Given the description of an element on the screen output the (x, y) to click on. 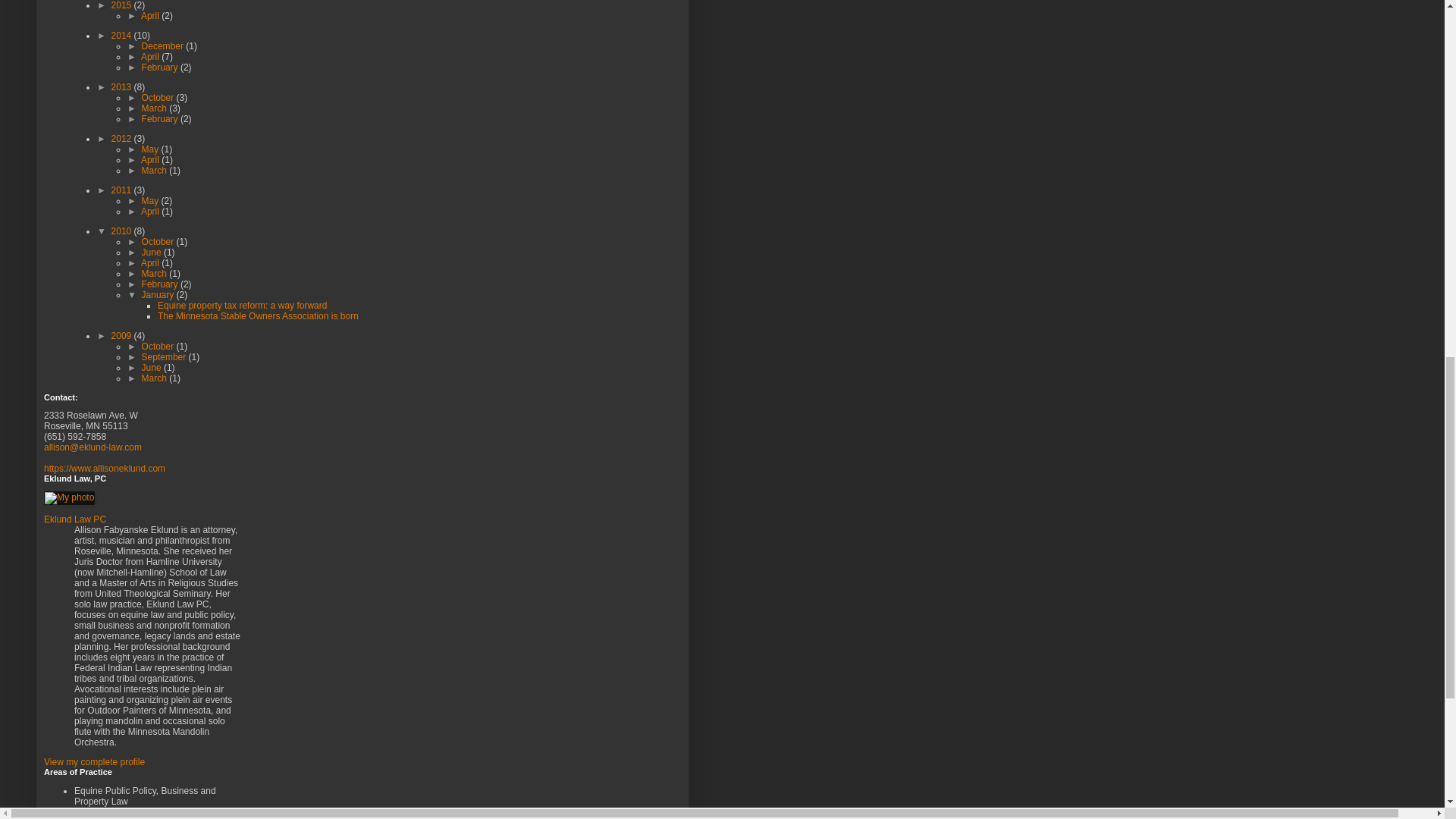
2013 (122, 86)
October (158, 97)
April (151, 15)
2014 (122, 35)
December (163, 45)
April (151, 56)
May (151, 149)
February (160, 67)
2015 (122, 5)
February (160, 118)
March (155, 108)
2012 (122, 138)
